Given the description of an element on the screen output the (x, y) to click on. 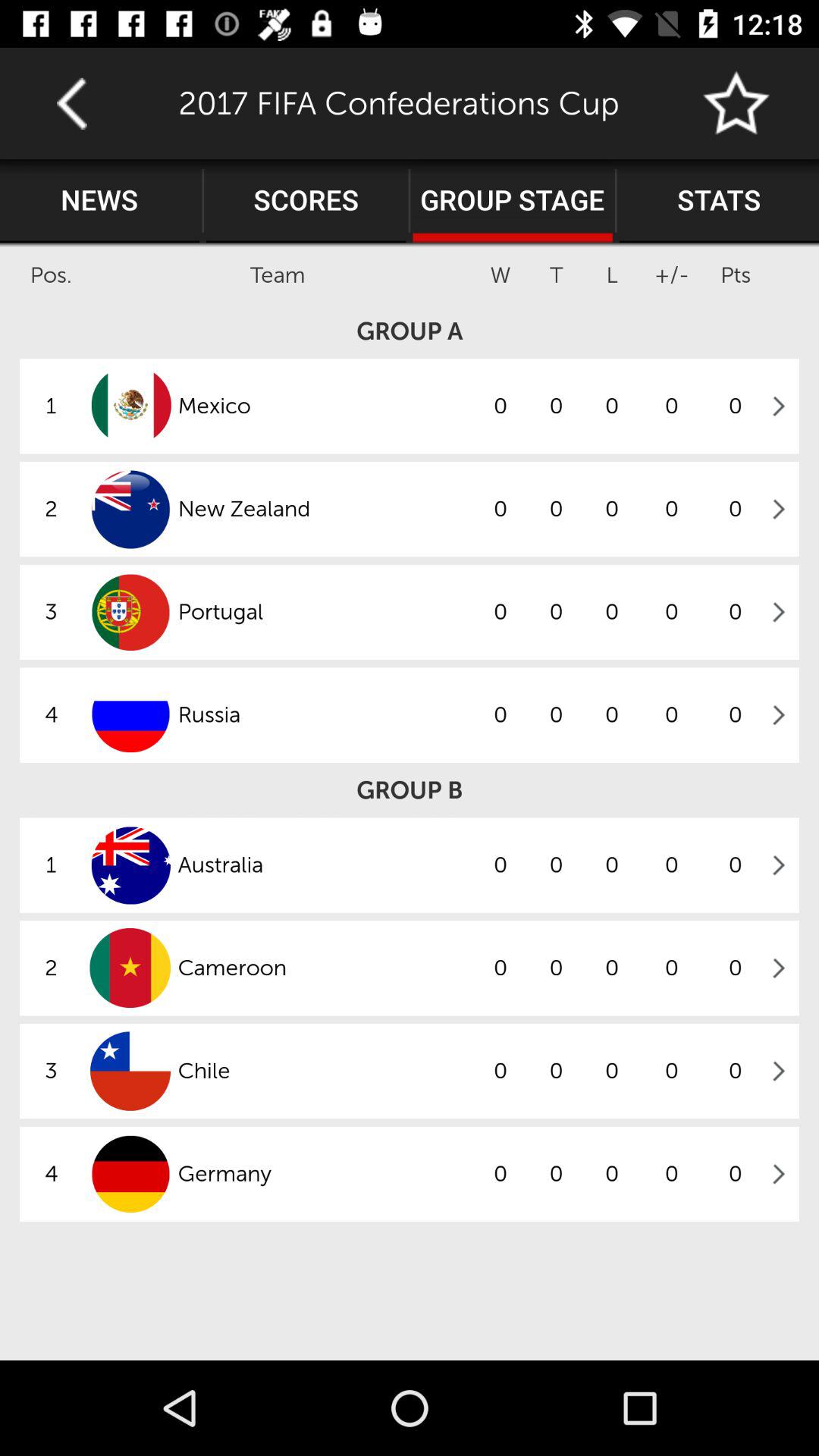
select the item below the group b item (325, 864)
